Given the description of an element on the screen output the (x, y) to click on. 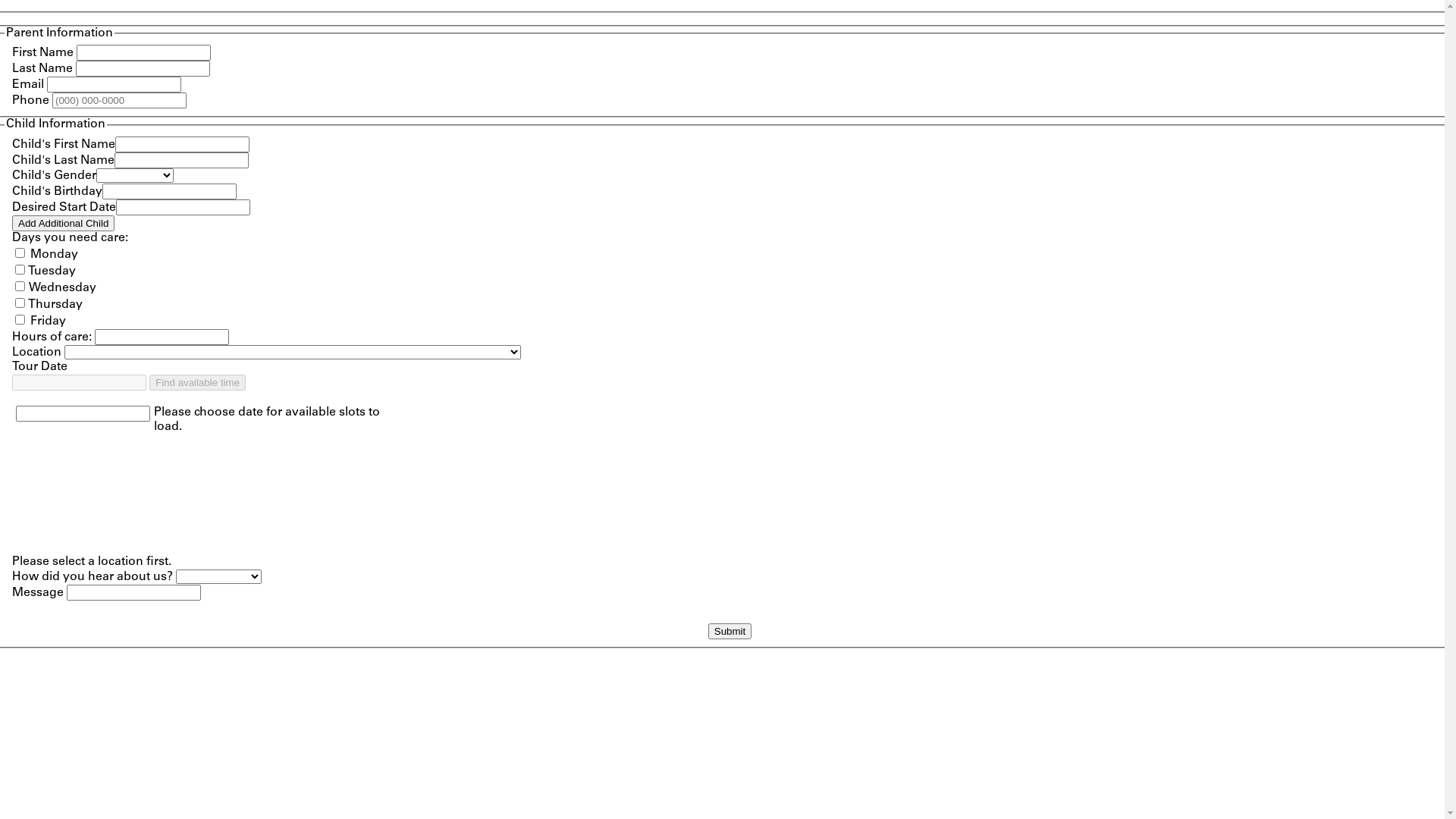
Submit Element type: text (729, 631)
Find available time Element type: text (197, 382)
Add Additional Child Element type: text (63, 223)
